Given the description of an element on the screen output the (x, y) to click on. 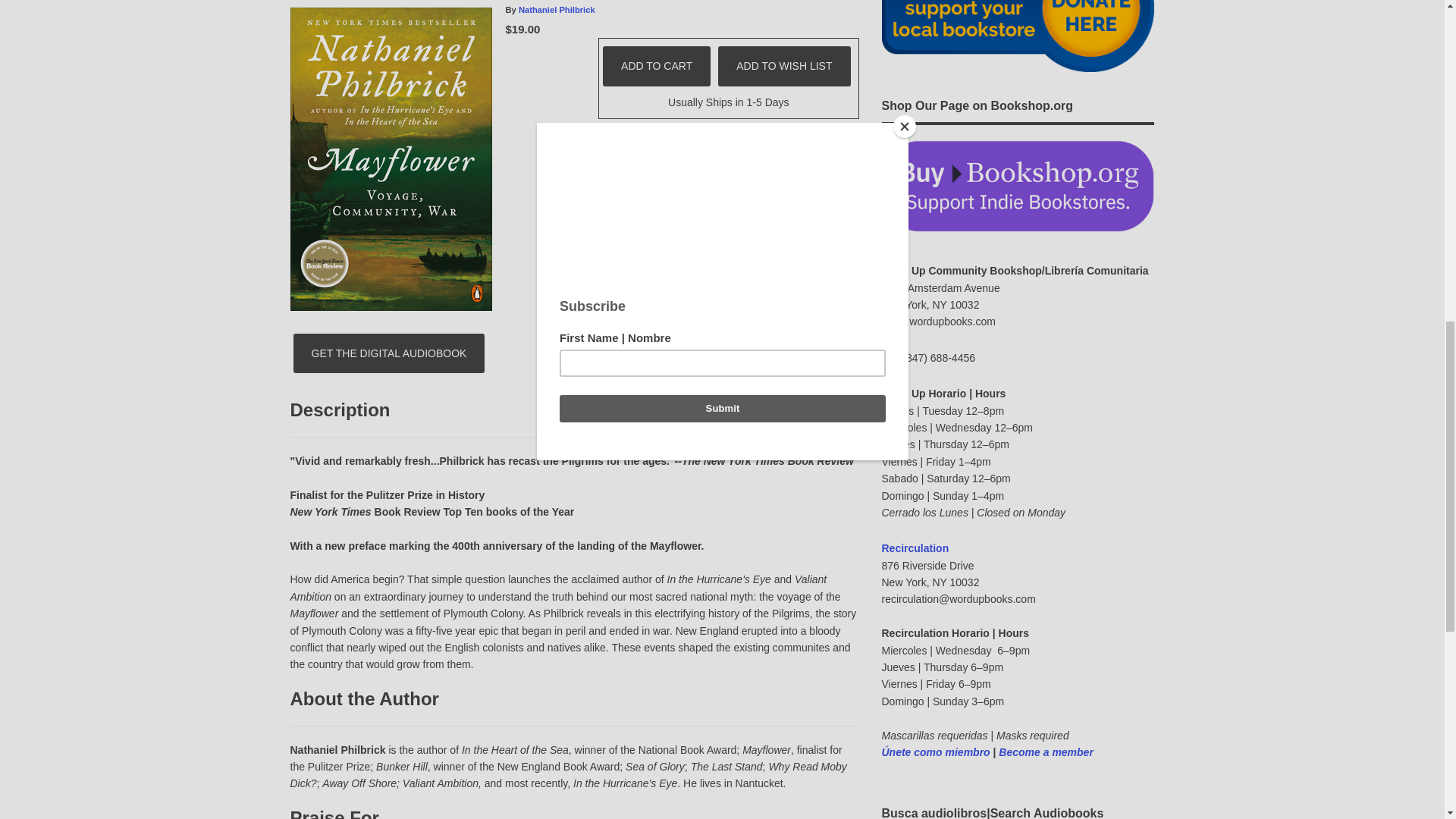
Get the Digital Audiobook (389, 353)
Add to Cart (656, 65)
